Given the description of an element on the screen output the (x, y) to click on. 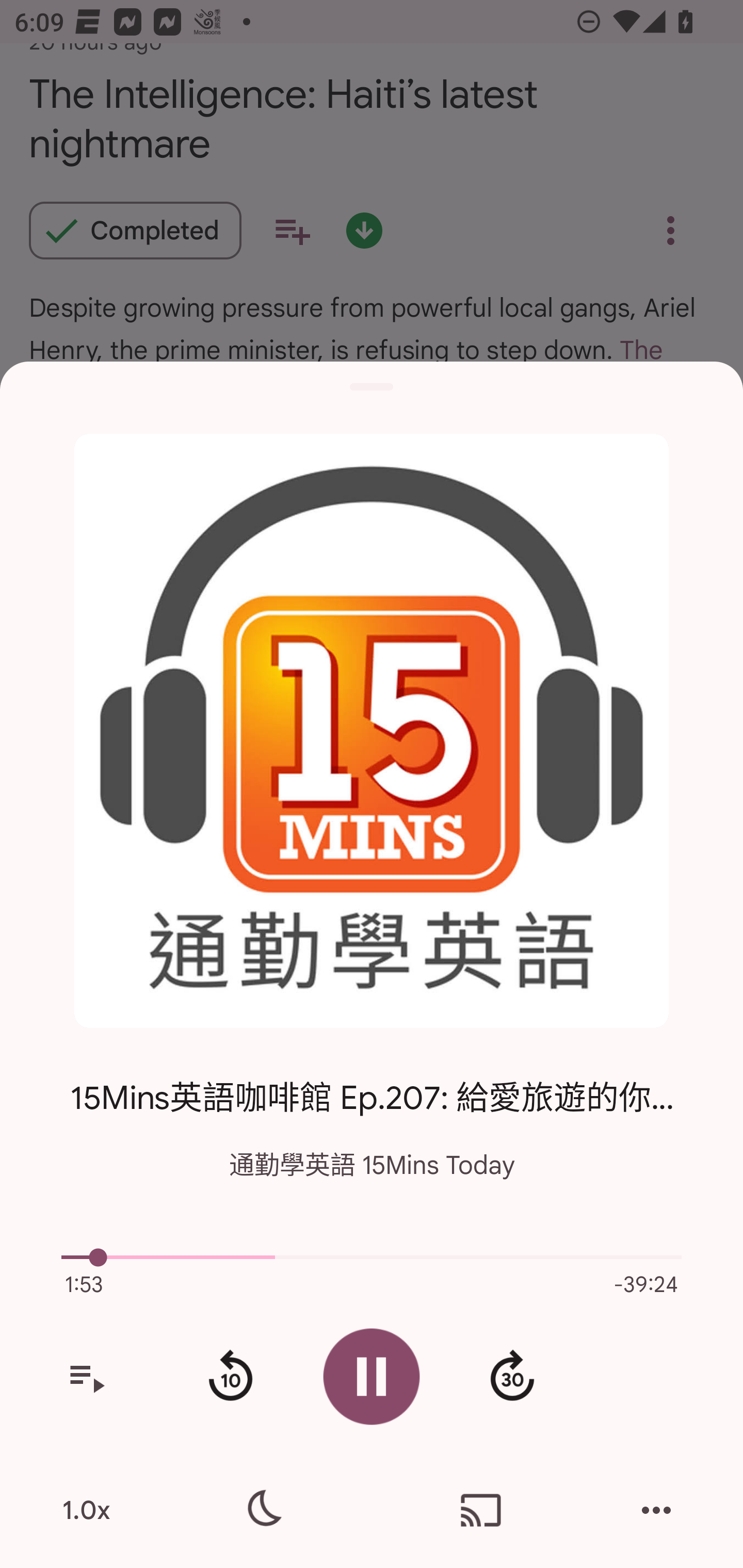
Open the show page for 通勤學英語 15Mins Today (371, 731)
453.0 Current episode playback (371, 1257)
Pause (371, 1376)
View your queue (86, 1376)
Rewind 10 seconds (230, 1376)
Fast forward 30 second (511, 1376)
1.0x Playback speed is 1.0. (86, 1510)
Sleep timer settings (261, 1510)
Cast. Disconnected (480, 1510)
More actions (655, 1510)
